Given the description of an element on the screen output the (x, y) to click on. 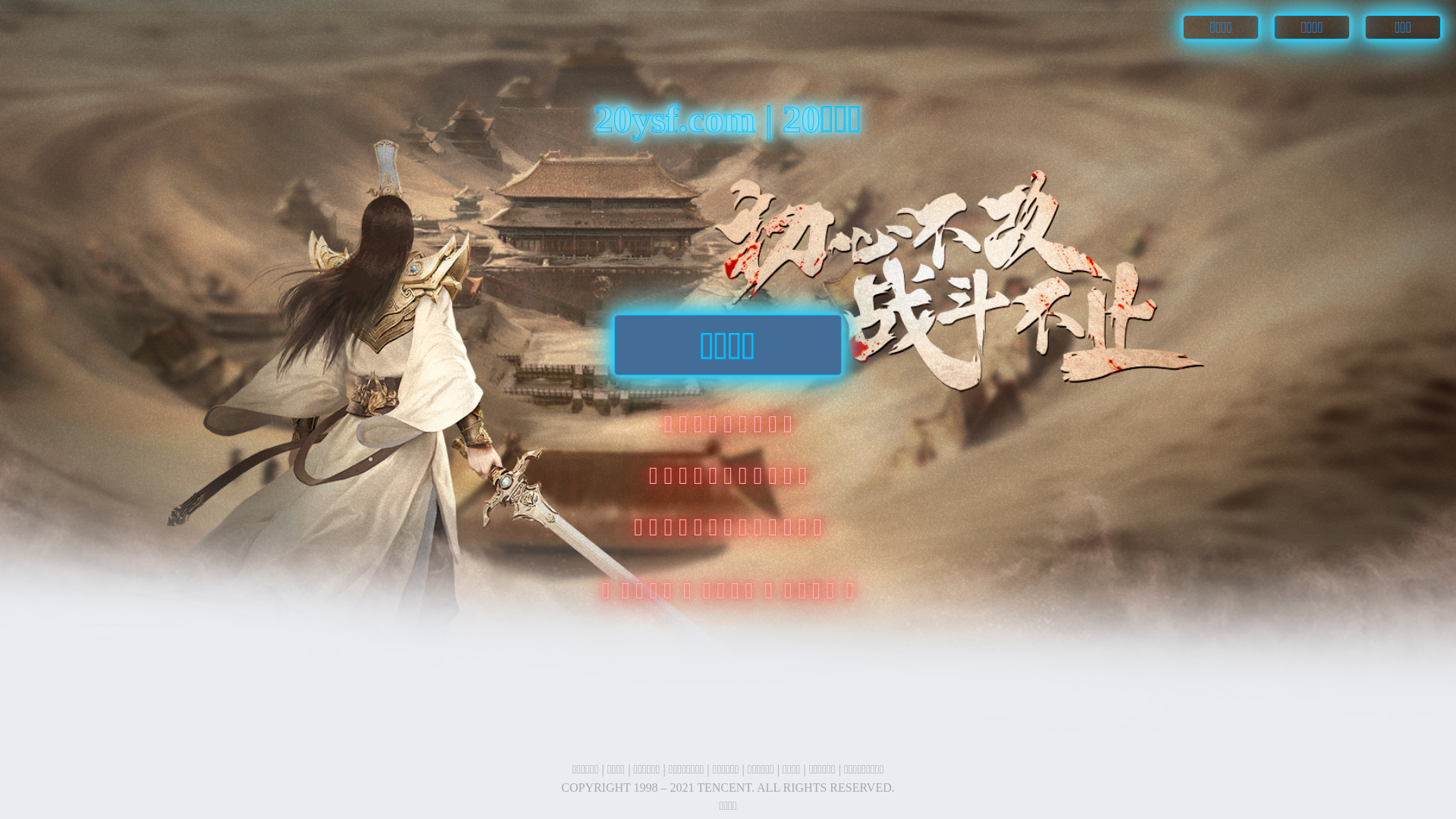
20ysf.com Element type: text (678, 118)
